Given the description of an element on the screen output the (x, y) to click on. 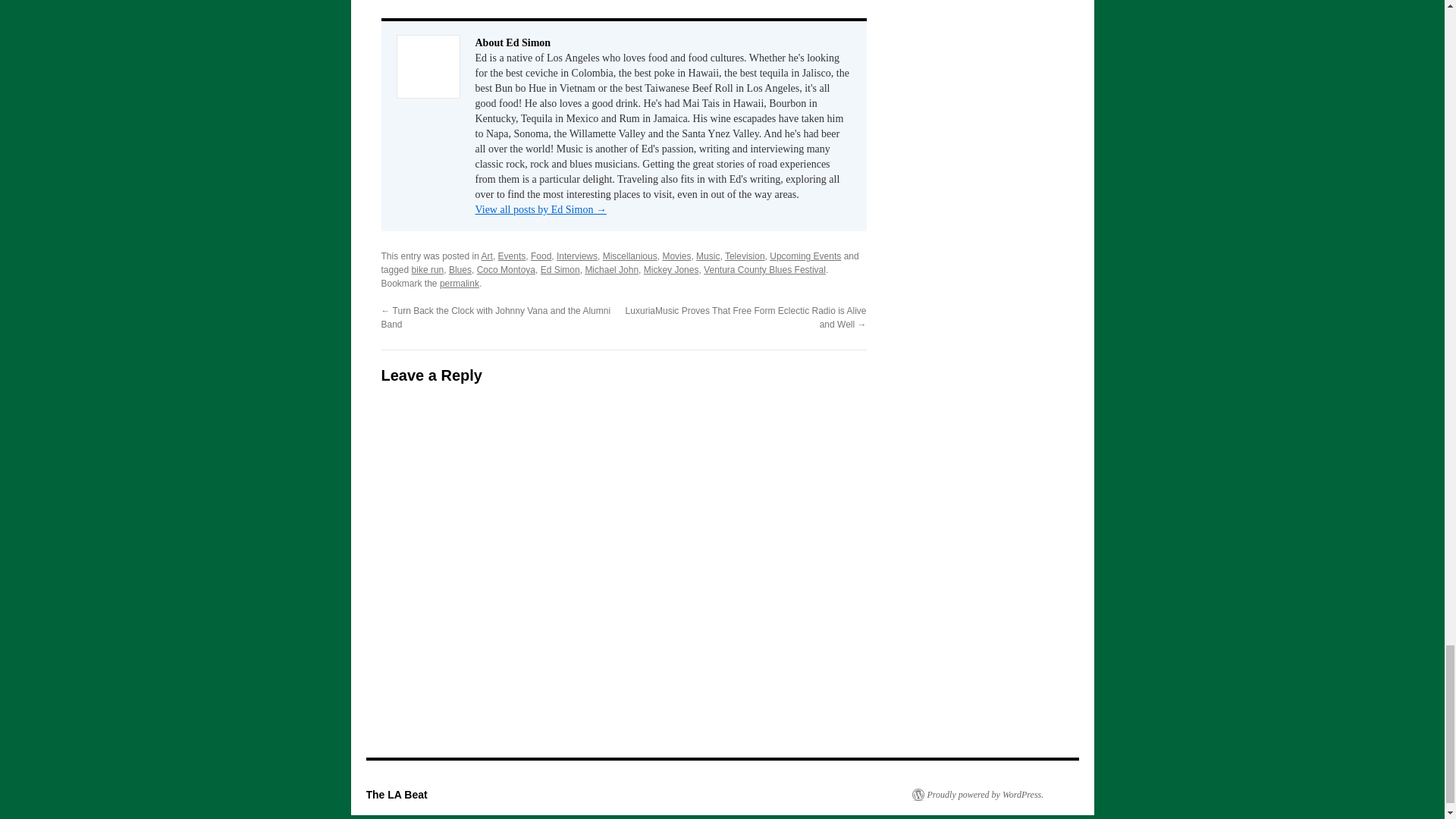
Interviews (576, 255)
bike run (428, 269)
Ed Simon (559, 269)
Movies (676, 255)
Blues (459, 269)
Television (745, 255)
Art (487, 255)
Mickey Jones (670, 269)
Semantic Personal Publishing Platform (977, 794)
Food (541, 255)
Ventura County Blues Festival (764, 269)
Events (511, 255)
Coco Montoya (506, 269)
Upcoming Events (805, 255)
